Given the description of an element on the screen output the (x, y) to click on. 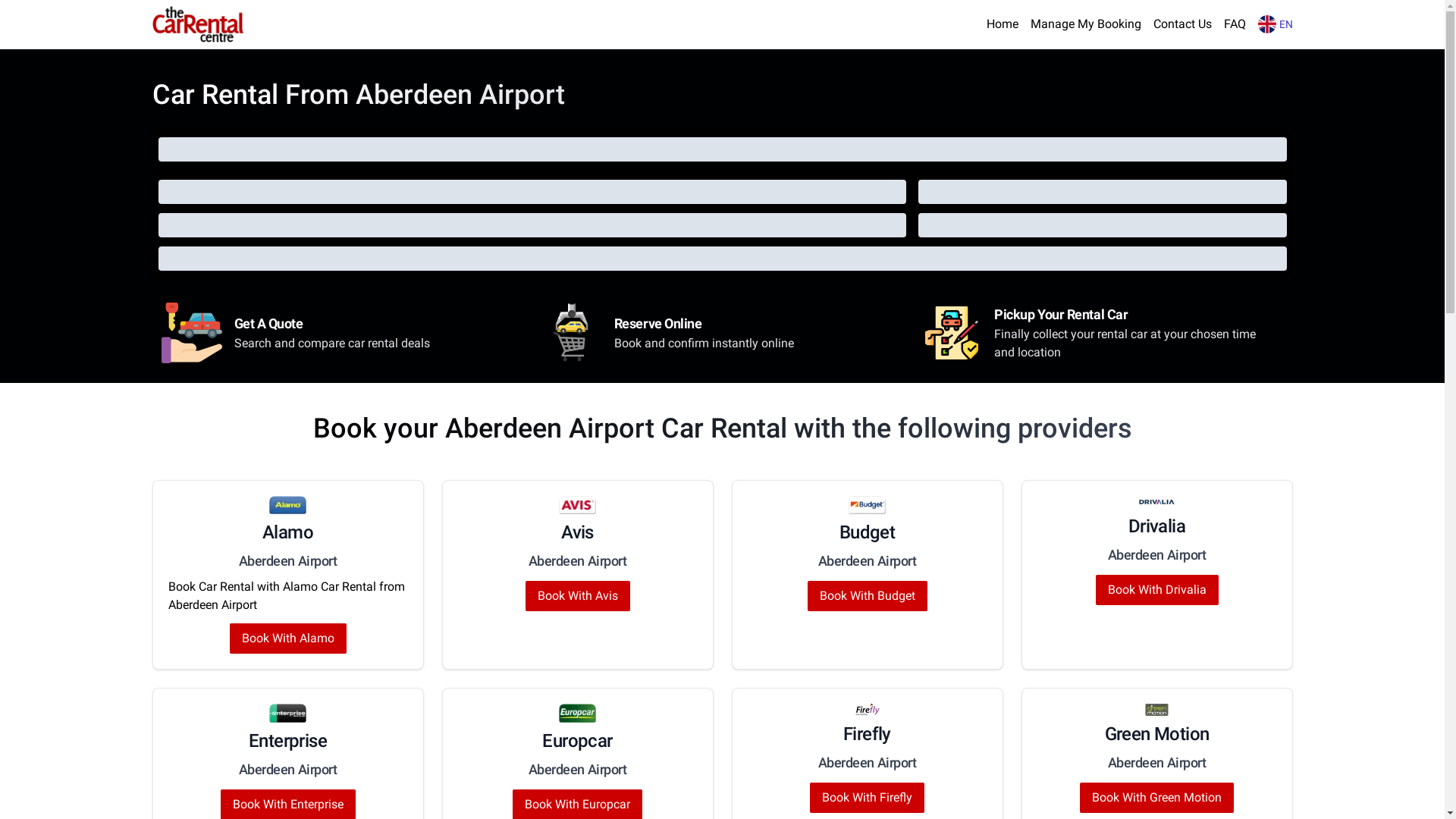
Book With Budget Element type: text (866, 595)
Book With Avis Element type: text (576, 595)
Manage My Booking Element type: text (1084, 24)
Home Element type: text (1001, 24)
Contact Us Element type: text (1181, 24)
FAQ Element type: text (1234, 24)
Book With Drivalia Element type: text (1156, 589)
Book With Firefly Element type: text (866, 797)
Book With Green Motion Element type: text (1156, 797)
EN Element type: text (1274, 24)
Book With Alamo Element type: text (287, 638)
The Car Rental Centre Element type: hover (196, 24)
